Given the description of an element on the screen output the (x, y) to click on. 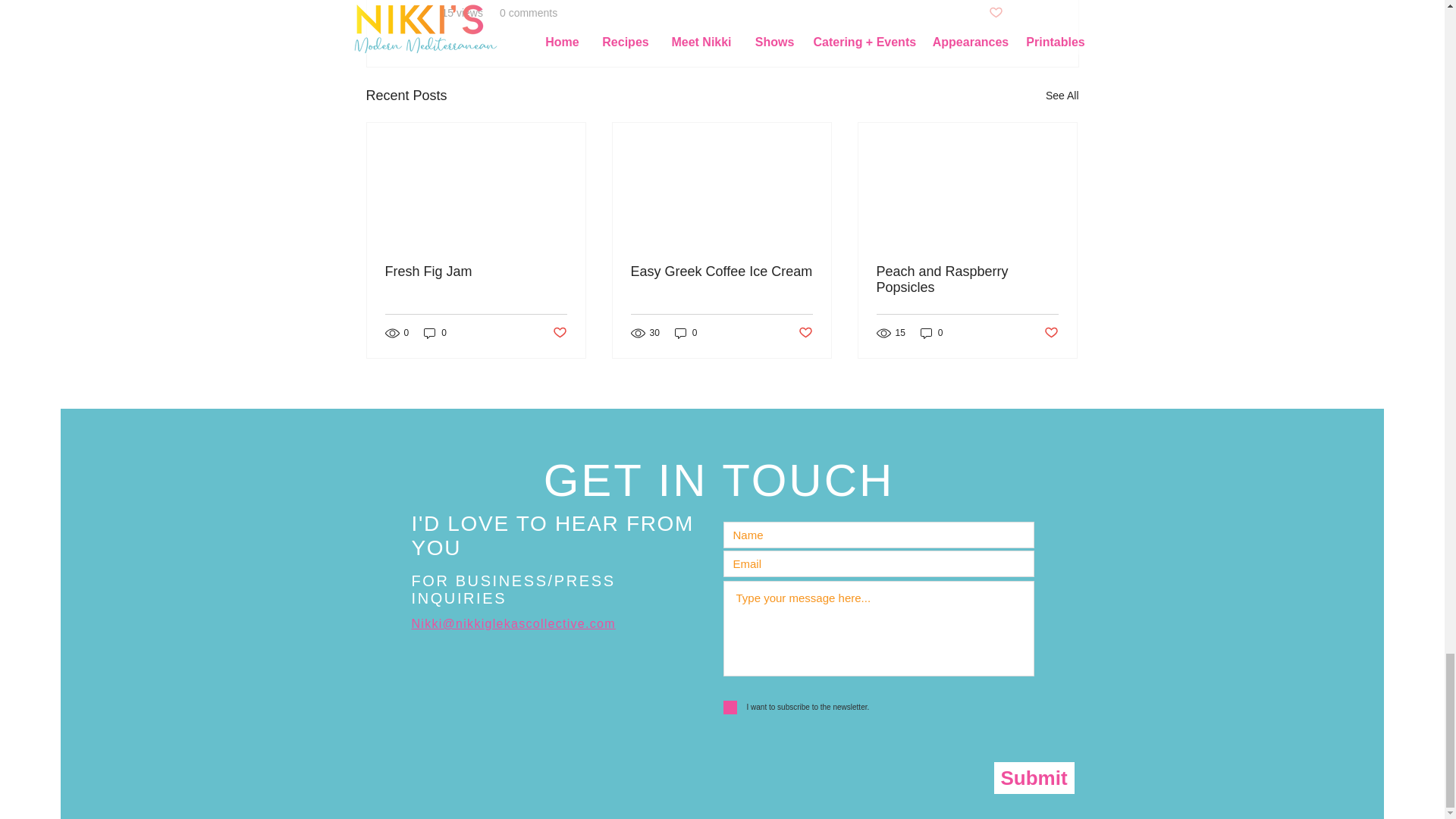
0 (685, 332)
Post not marked as liked (804, 333)
Peach and Raspberry Popsicles (967, 279)
Fresh Fig Jam (476, 271)
See All (1061, 96)
Easy Greek Coffee Ice Cream (721, 271)
Post not marked as liked (558, 333)
0 (435, 332)
Post not marked as liked (995, 12)
